Given the description of an element on the screen output the (x, y) to click on. 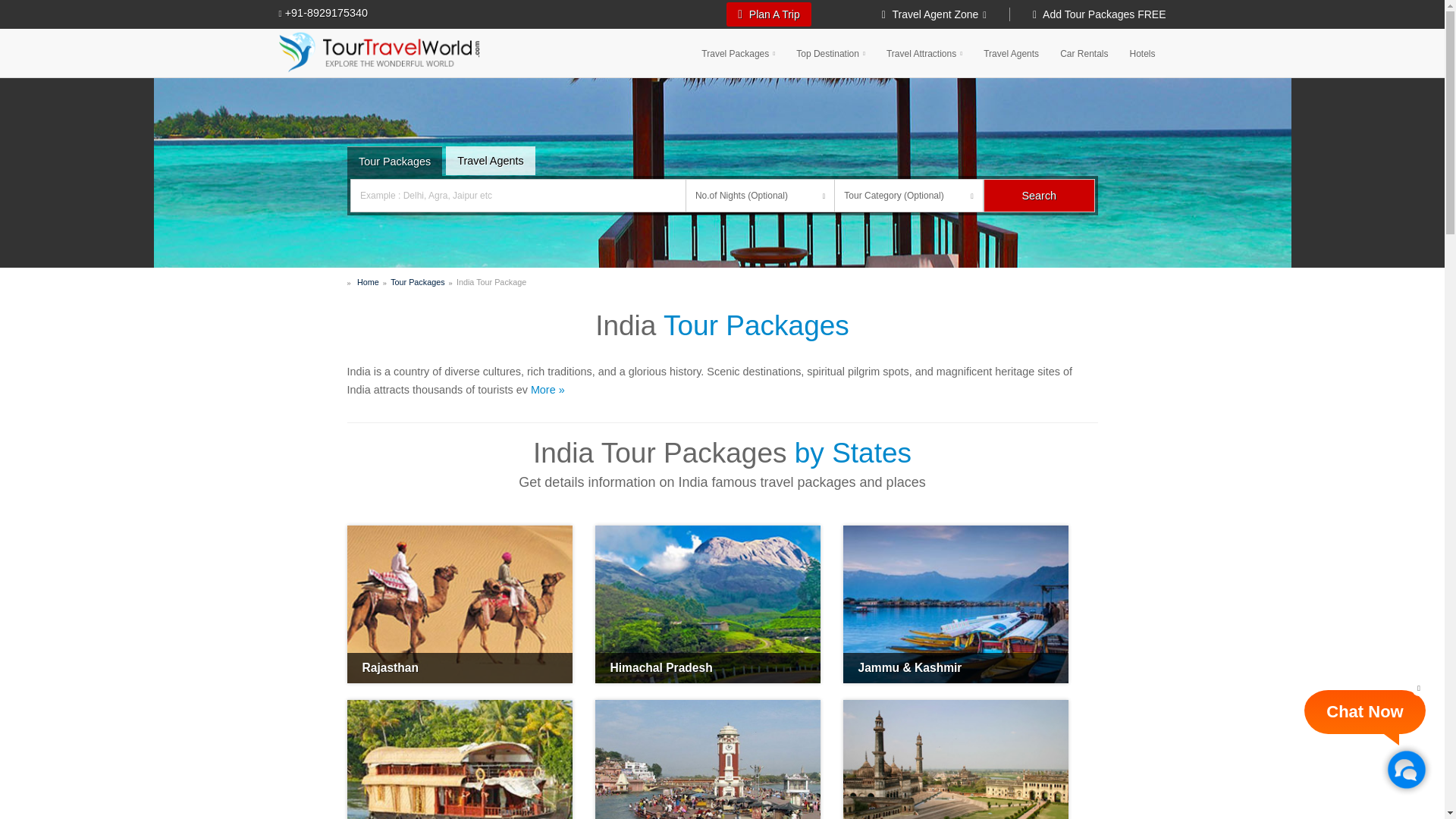
Tour Travel World (379, 51)
Plan A Trip (768, 14)
Add Tour Packages FREE (1088, 14)
Top Destination (831, 52)
Travel Packages (738, 52)
Travel Agent Zone (946, 14)
Plan A Trip (768, 14)
Add Tour Packages FREE (1088, 14)
